Given the description of an element on the screen output the (x, y) to click on. 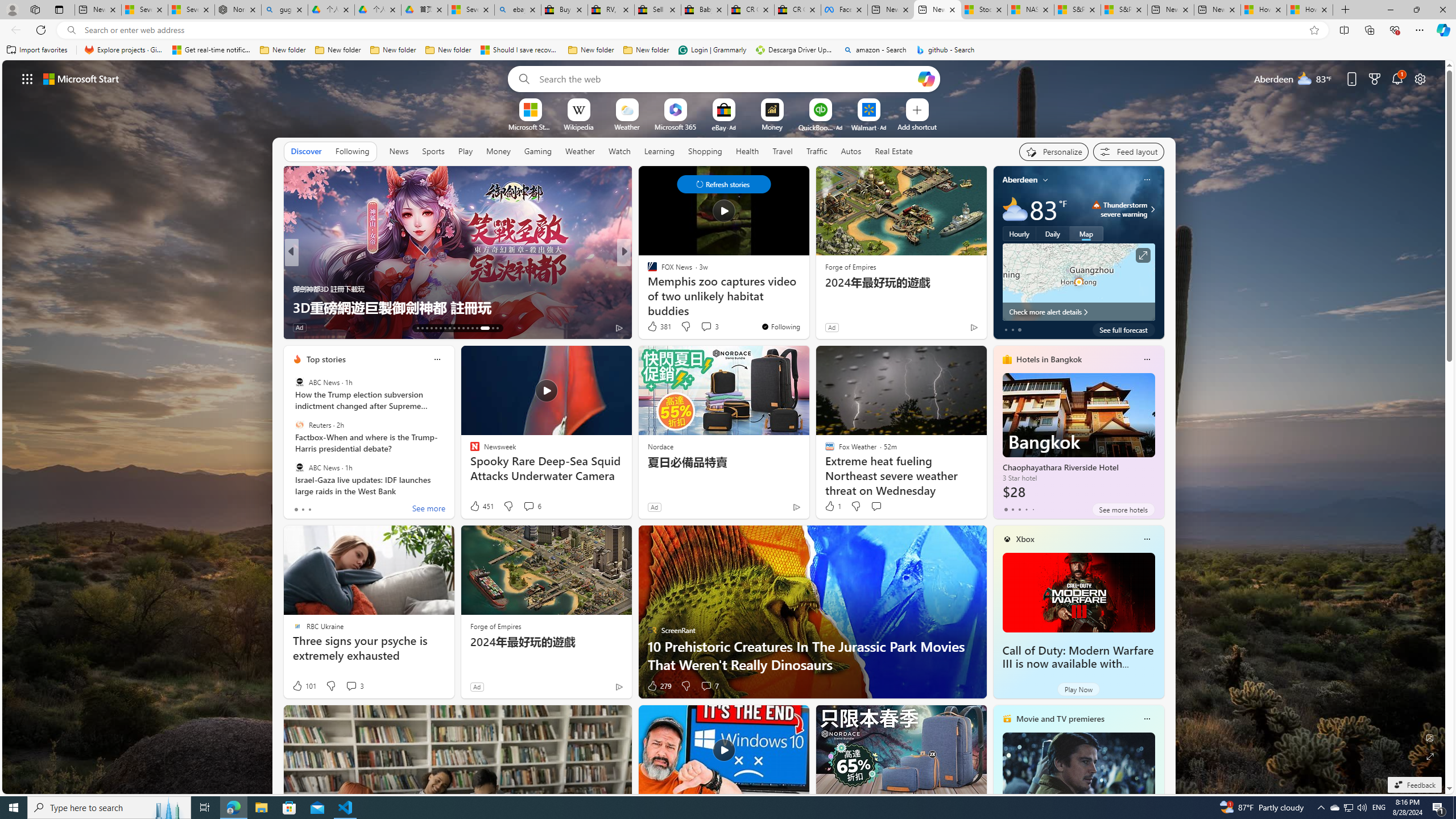
Reuters (299, 424)
Thunderstorm - Severe Thunderstorm severe warning (1119, 208)
Aberdeen (1019, 179)
Top stories (325, 359)
Traffic (816, 151)
Should I save recovered Word documents? - Microsoft Support (519, 49)
Click to see more information (1142, 255)
